Given the description of an element on the screen output the (x, y) to click on. 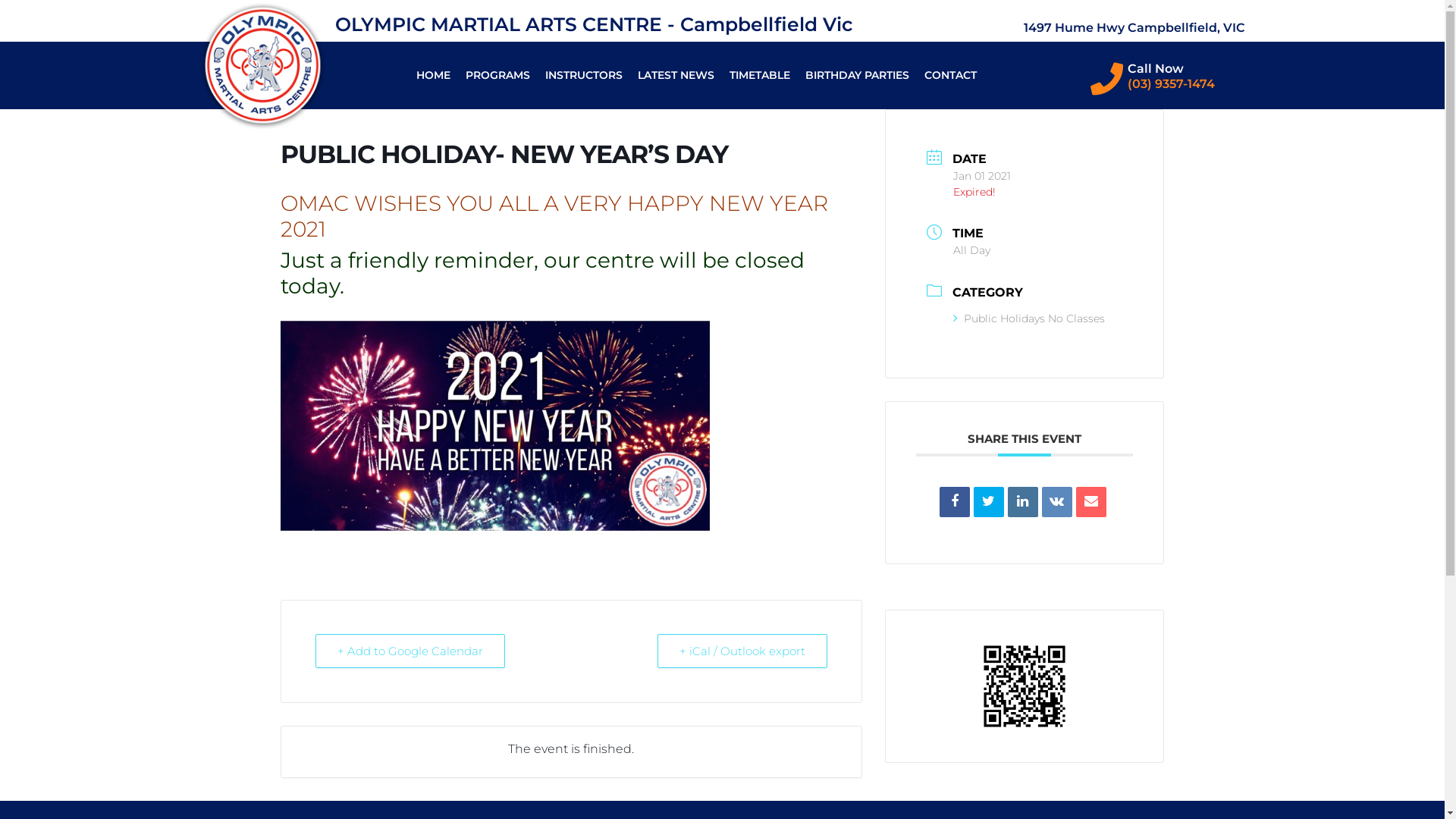
+ iCal / Outlook export Element type: text (742, 650)
Email Element type: hover (1091, 501)
Public Holidays No Classes Element type: text (1028, 318)
CONTACT Element type: text (950, 74)
+ Add to Google Calendar Element type: text (410, 650)
HOME Element type: text (433, 74)
Linkedin Element type: hover (1022, 501)
BIRTHDAY PARTIES Element type: text (856, 74)
VK Element type: hover (1056, 501)
Share on Facebook Element type: hover (954, 501)
Tweet Element type: hover (988, 501)
PROGRAMS Element type: text (497, 74)
TIMETABLE Element type: text (759, 74)
(03) 9357-1474 Element type: text (1170, 83)
INSTRUCTORS Element type: text (583, 74)
LATEST NEWS Element type: text (675, 74)
